Given the description of an element on the screen output the (x, y) to click on. 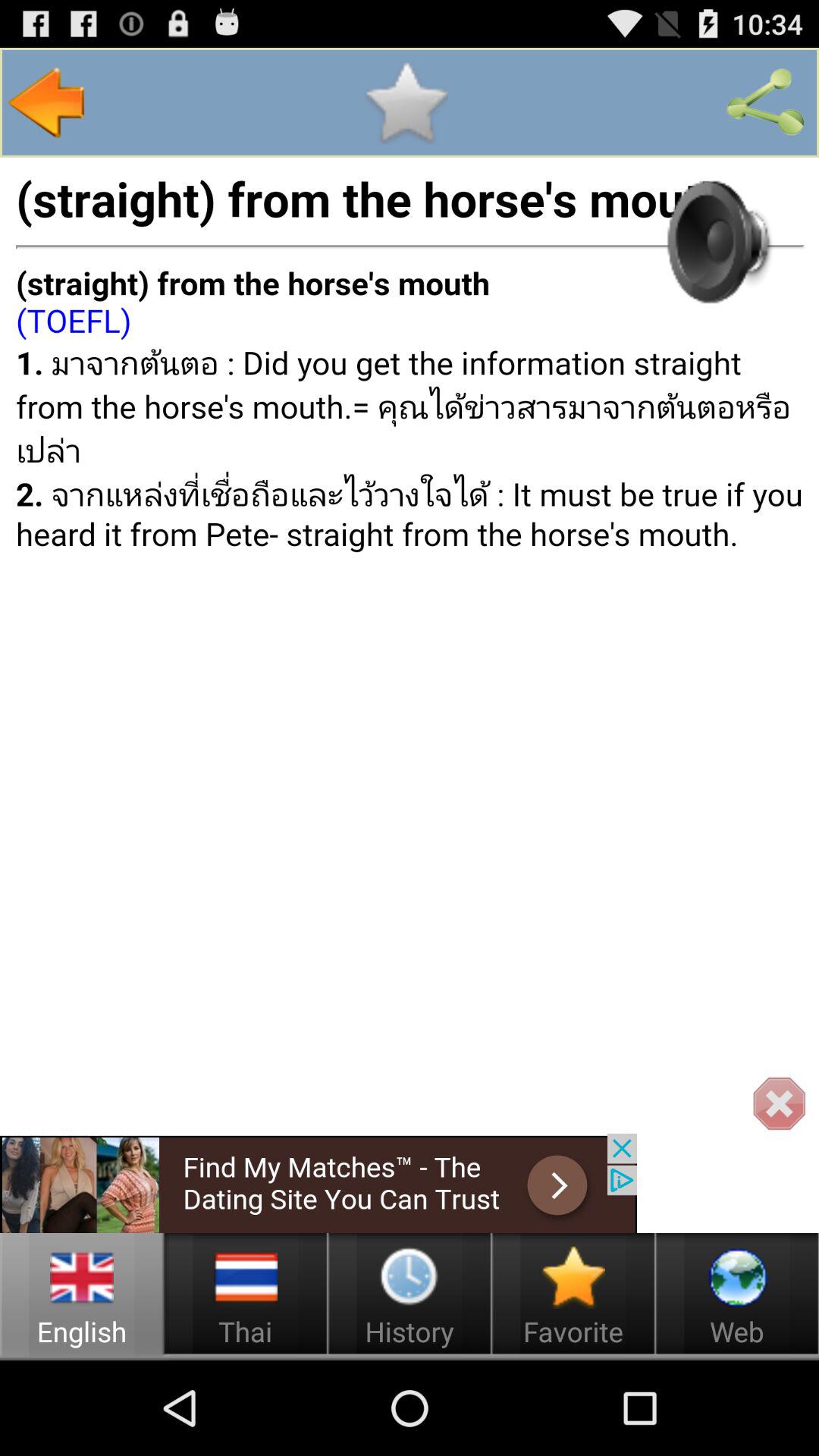
go back (47, 102)
